Given the description of an element on the screen output the (x, y) to click on. 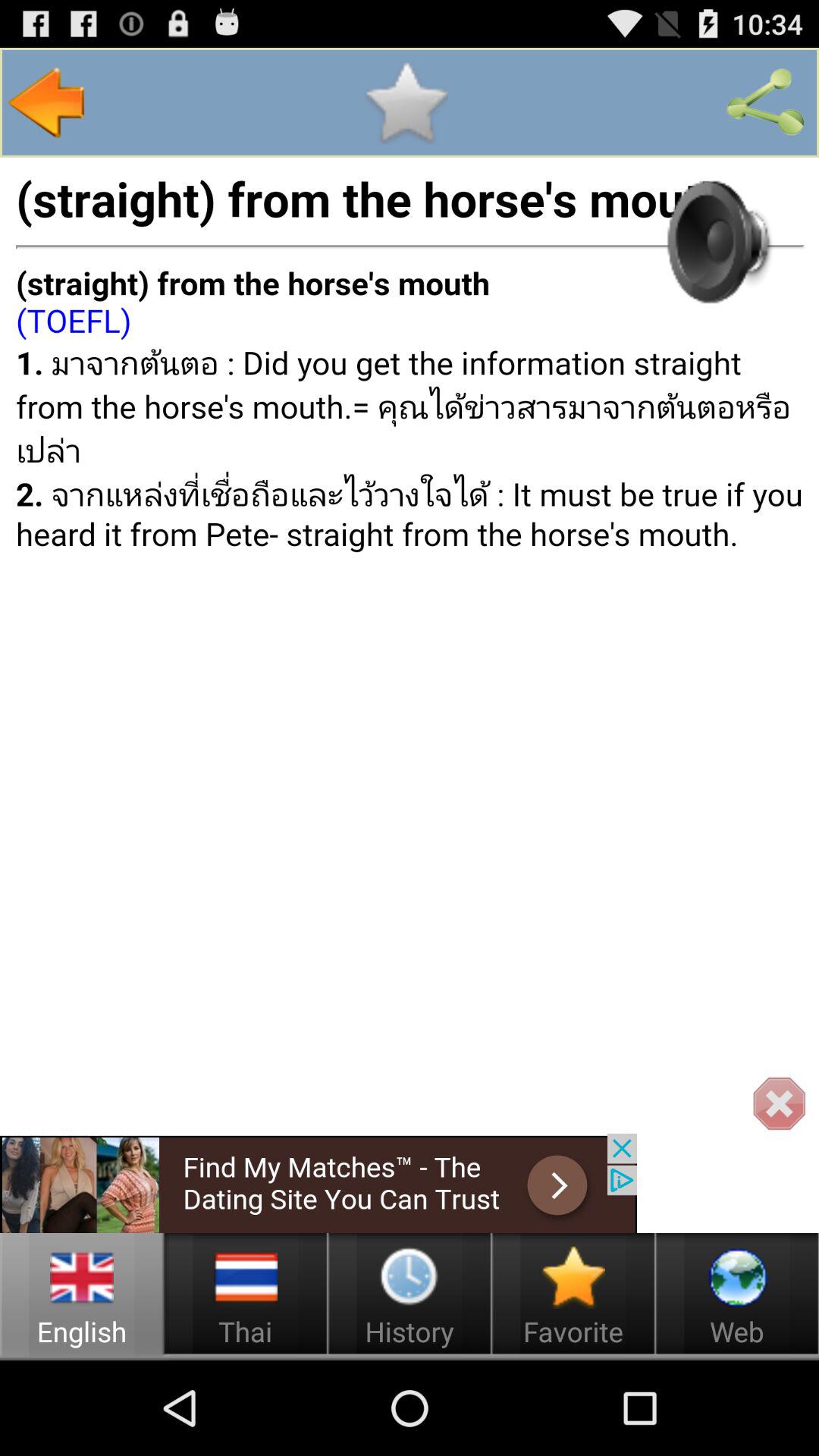
go back (47, 102)
